Given the description of an element on the screen output the (x, y) to click on. 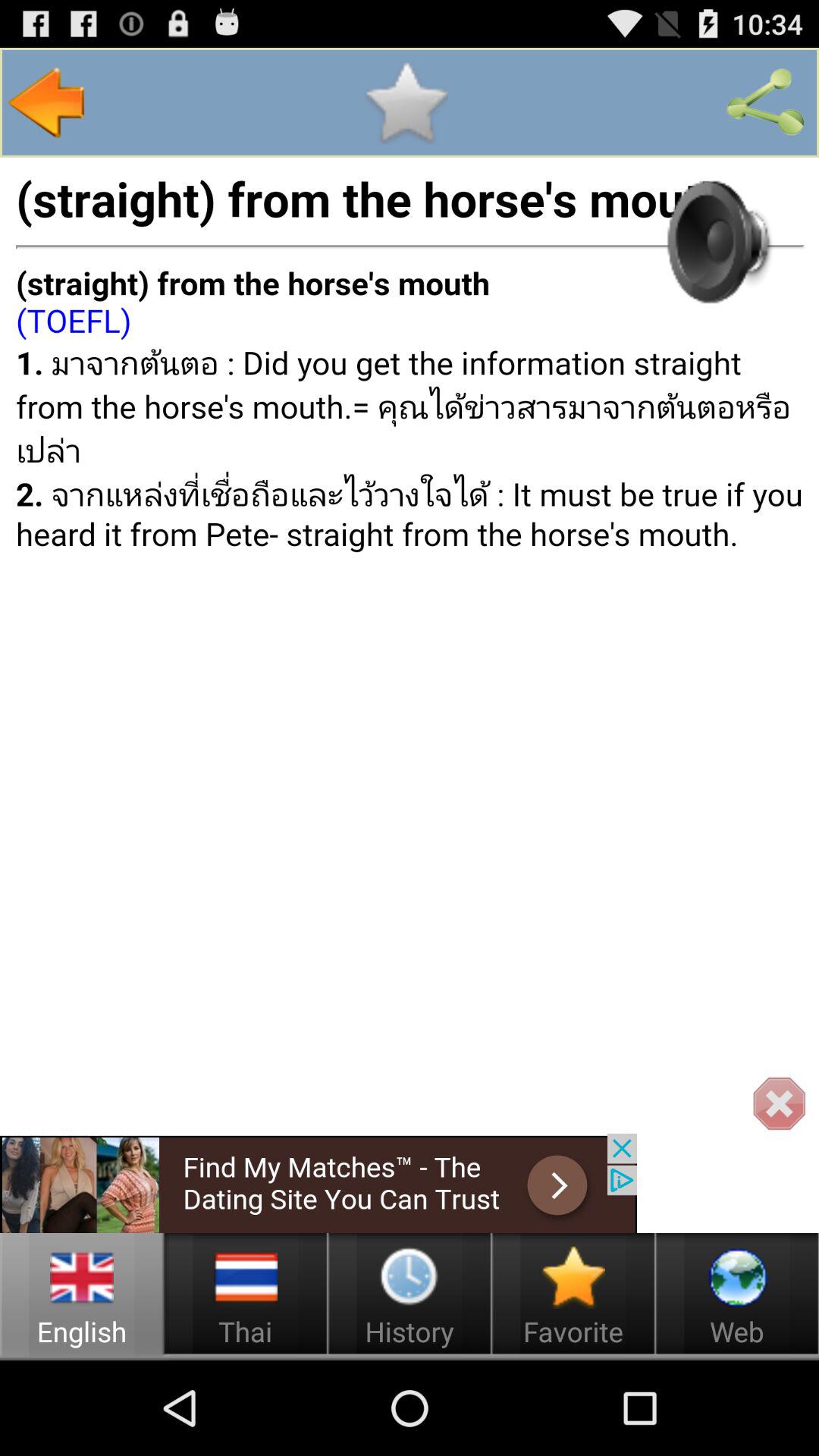
go back (47, 102)
